Given the description of an element on the screen output the (x, y) to click on. 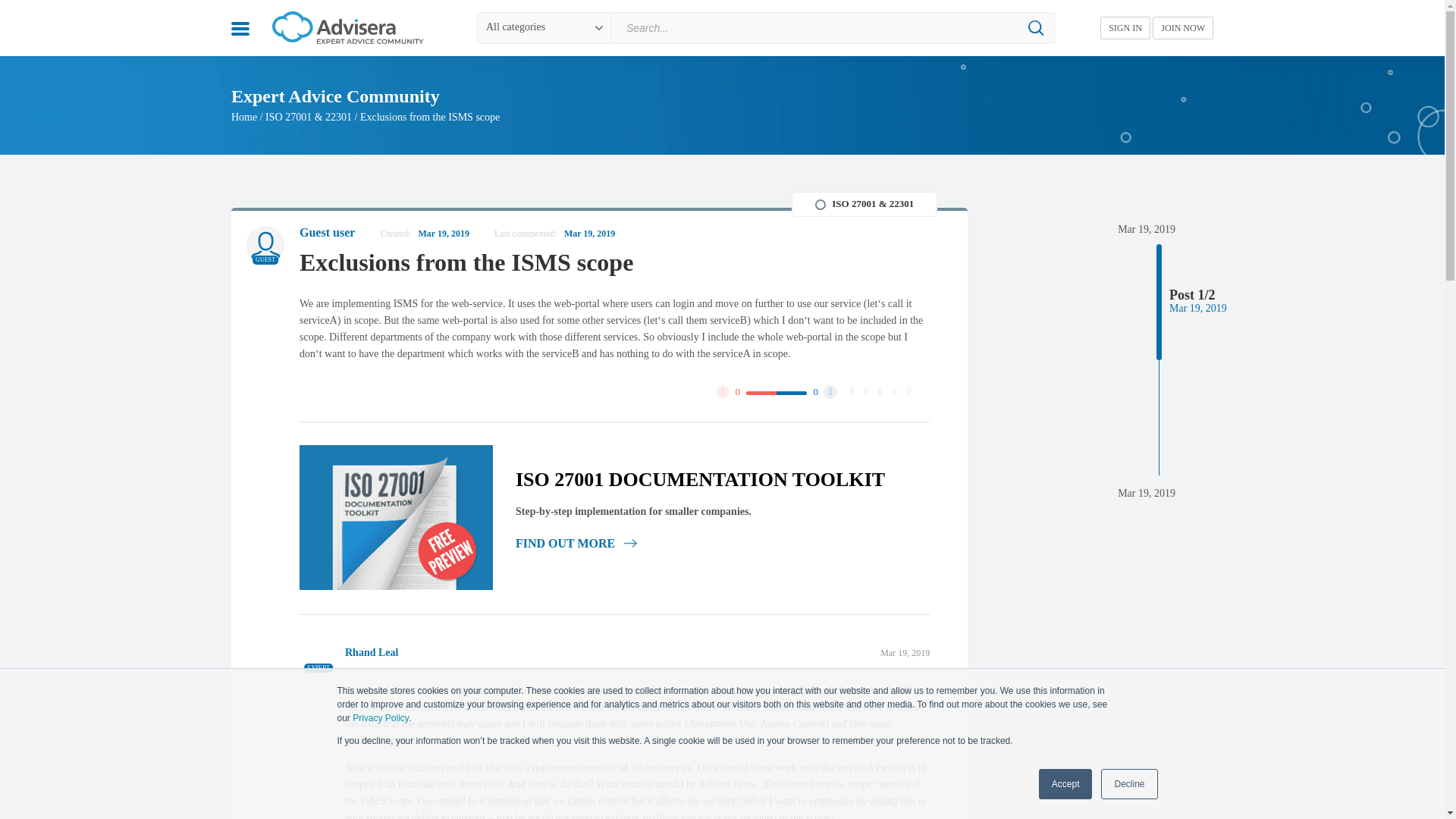
Accept (1066, 784)
Decline (1128, 784)
Privacy Policy (380, 717)
JOIN NOW (1182, 27)
SIGN IN (1125, 27)
Home (244, 116)
